Given the description of an element on the screen output the (x, y) to click on. 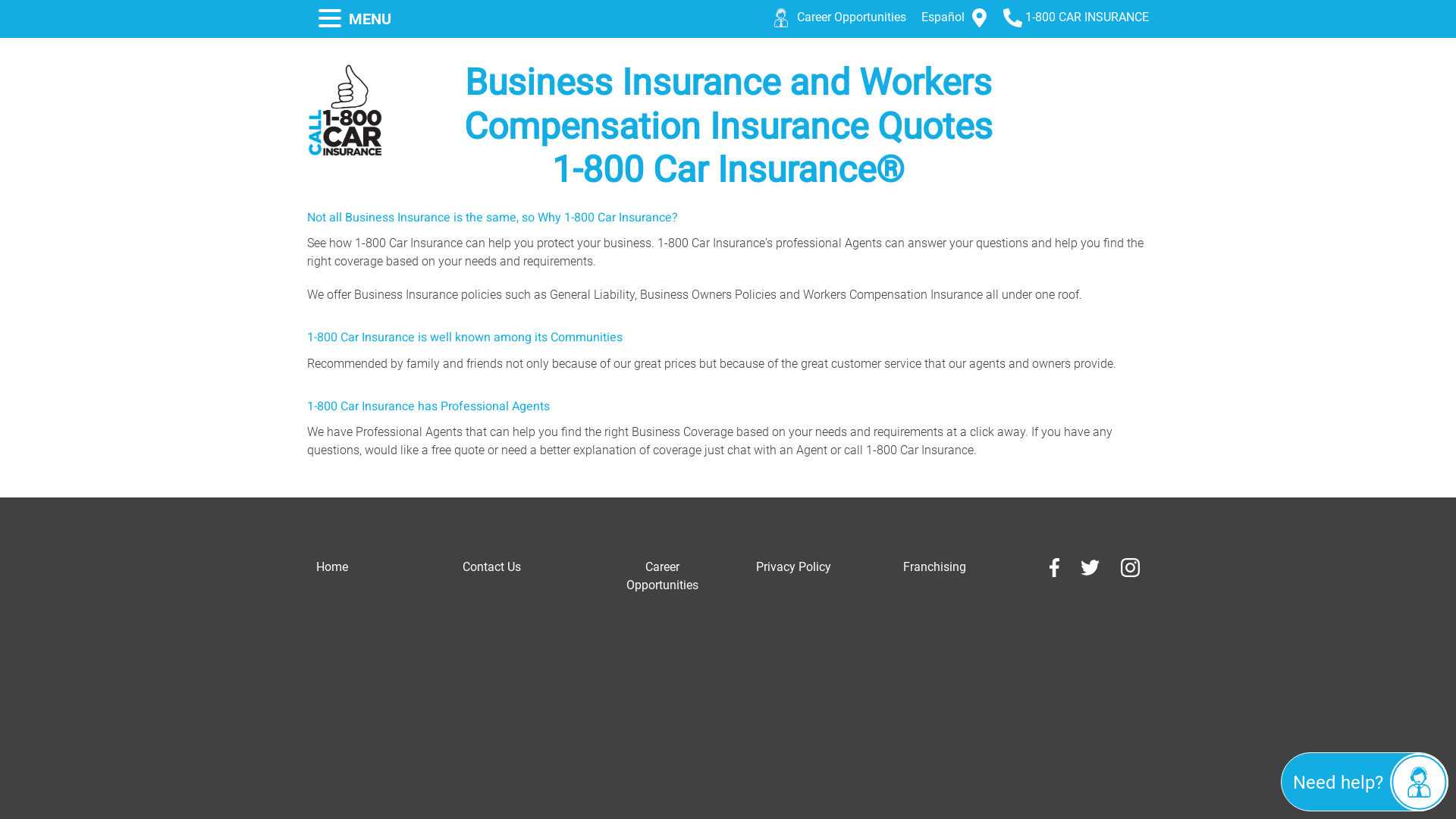
Contact Us Element type: text (491, 567)
Privacy Policy Element type: text (793, 567)
Career Opportunities Element type: text (662, 576)
Home Element type: text (332, 567)
Need help? Element type: text (1364, 781)
Franchising Element type: text (934, 567)
1-800 CAR INSURANCE Element type: text (1075, 16)
MENU Element type: text (354, 18)
Career Opportunities Element type: text (840, 16)
